Given the description of an element on the screen output the (x, y) to click on. 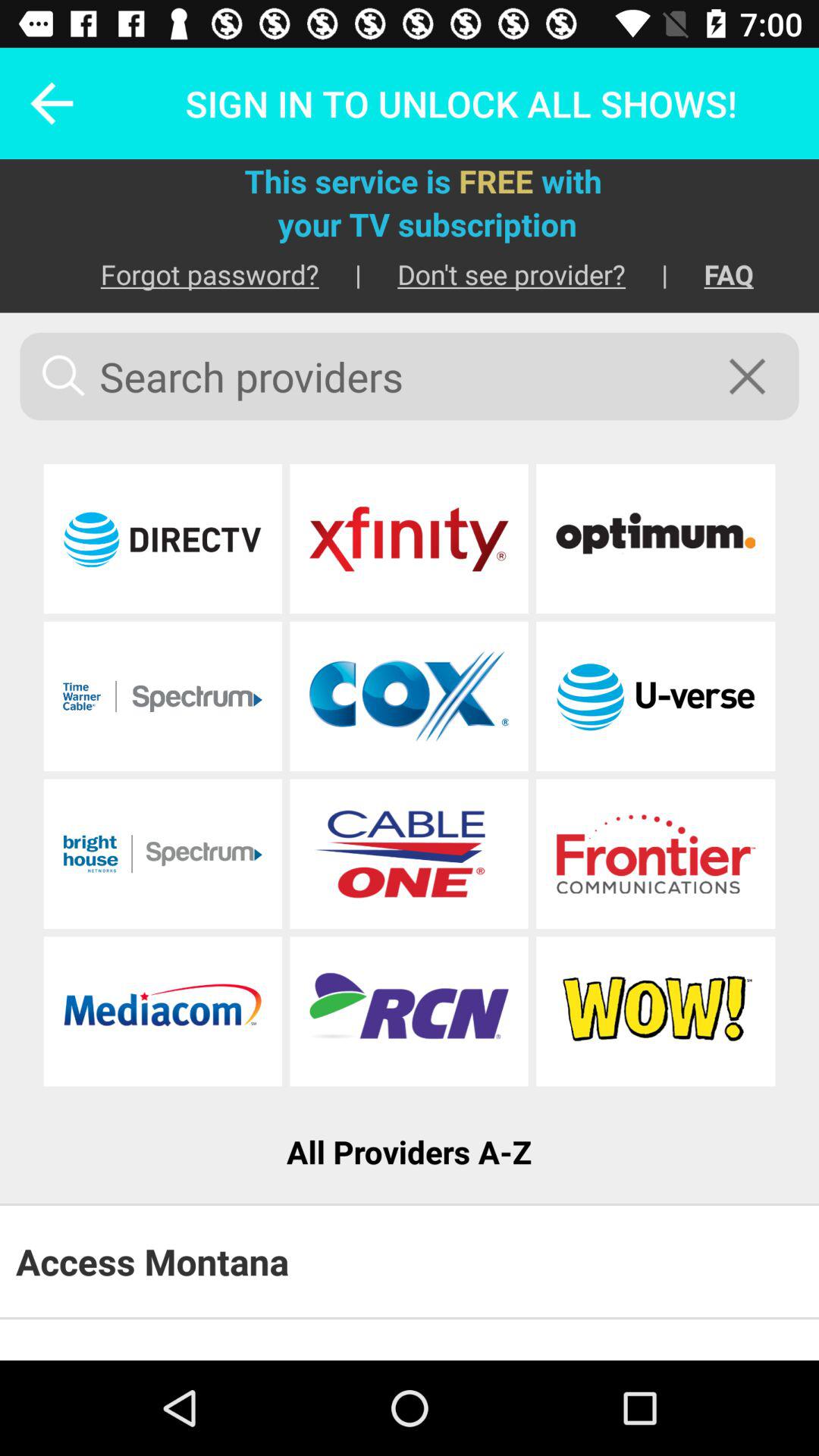
launch item to the right of the | item (710, 273)
